Given the description of an element on the screen output the (x, y) to click on. 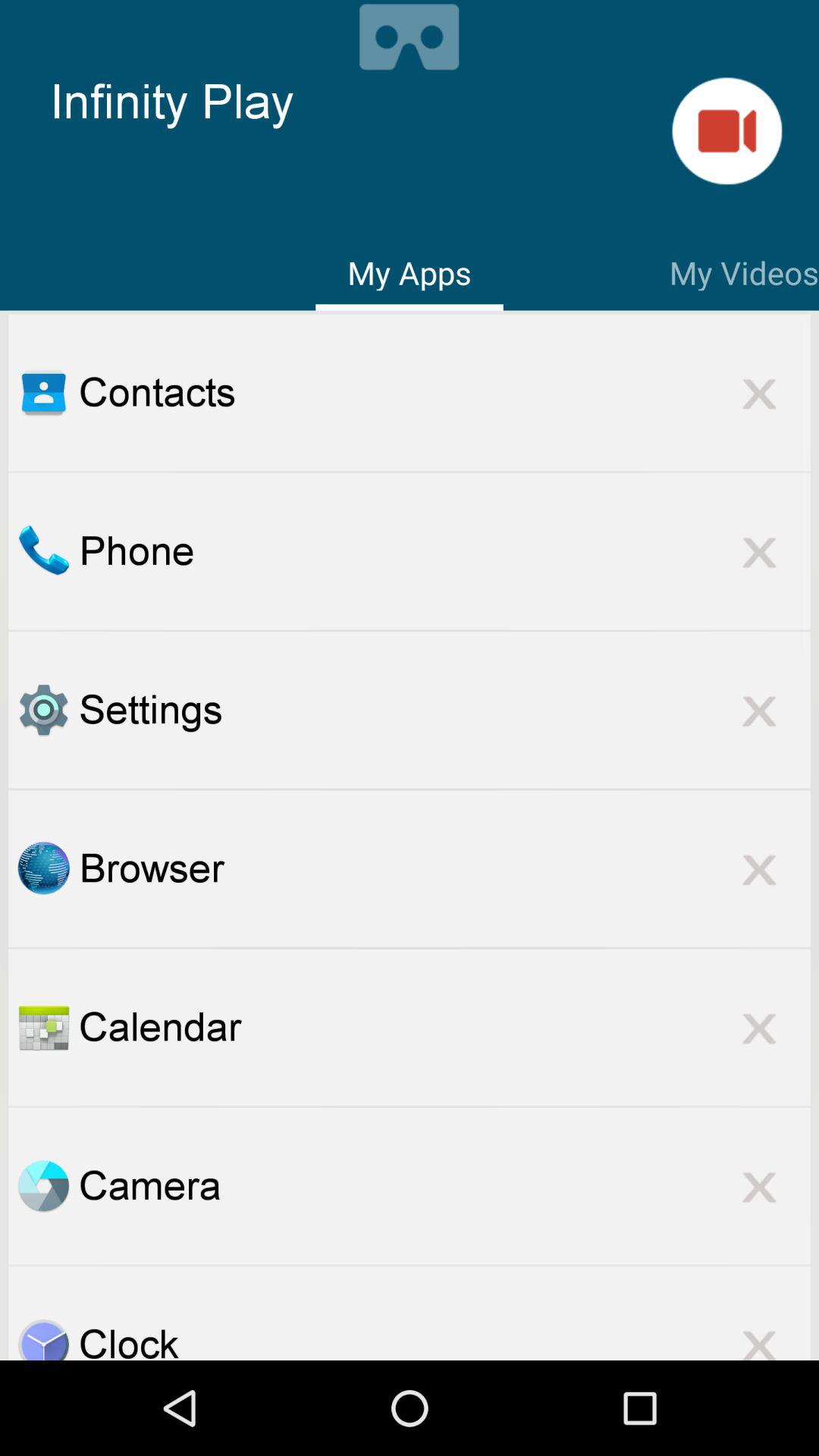
select and open settings (43, 709)
